Given the description of an element on the screen output the (x, y) to click on. 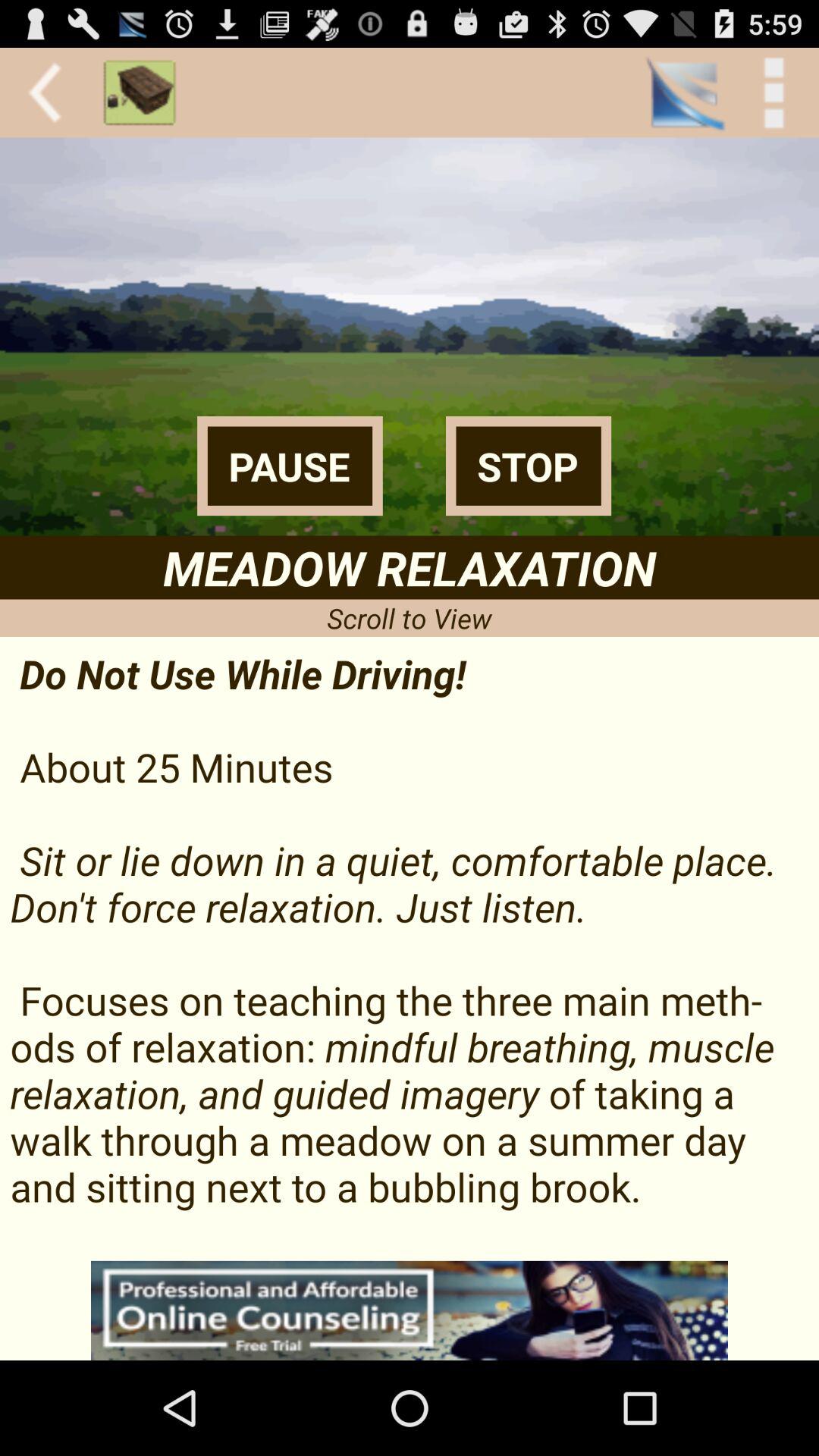
visit advertisement page (409, 1310)
